Given the description of an element on the screen output the (x, y) to click on. 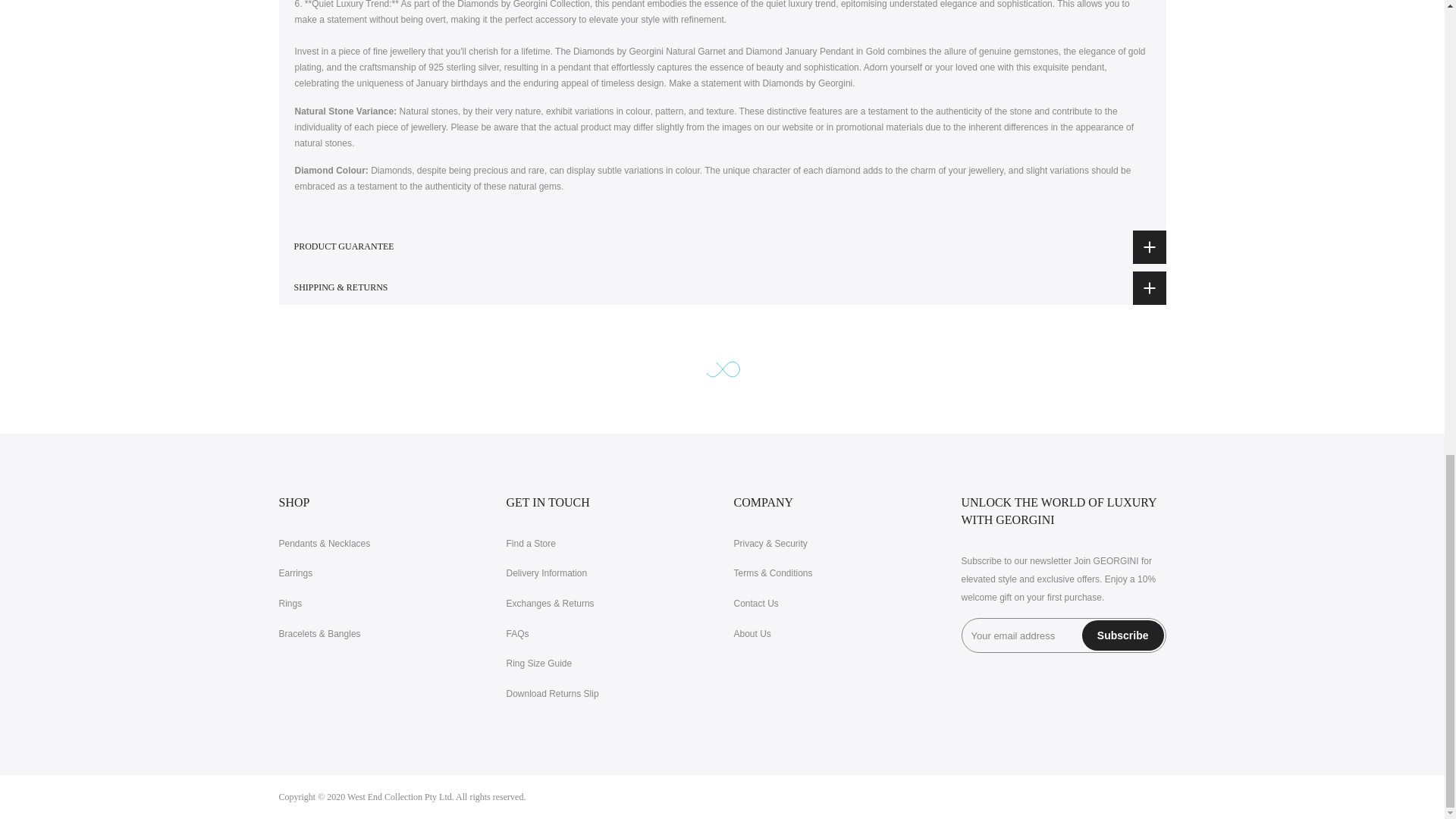
RING SIZE GUIDE (539, 663)
Rings (290, 603)
RETURN POLICY (550, 603)
RINGS (290, 603)
SHIPPING (547, 573)
TERMS AND CONDITIONS (772, 573)
Earrings (296, 573)
FAQs (517, 633)
Privacy Policy (770, 543)
Find a Store (531, 543)
Returns Slip (552, 693)
Delivery Information (547, 573)
FAQs (517, 633)
Earrings (296, 573)
PRODUCT GUARANTEE (722, 246)
